Given the description of an element on the screen output the (x, y) to click on. 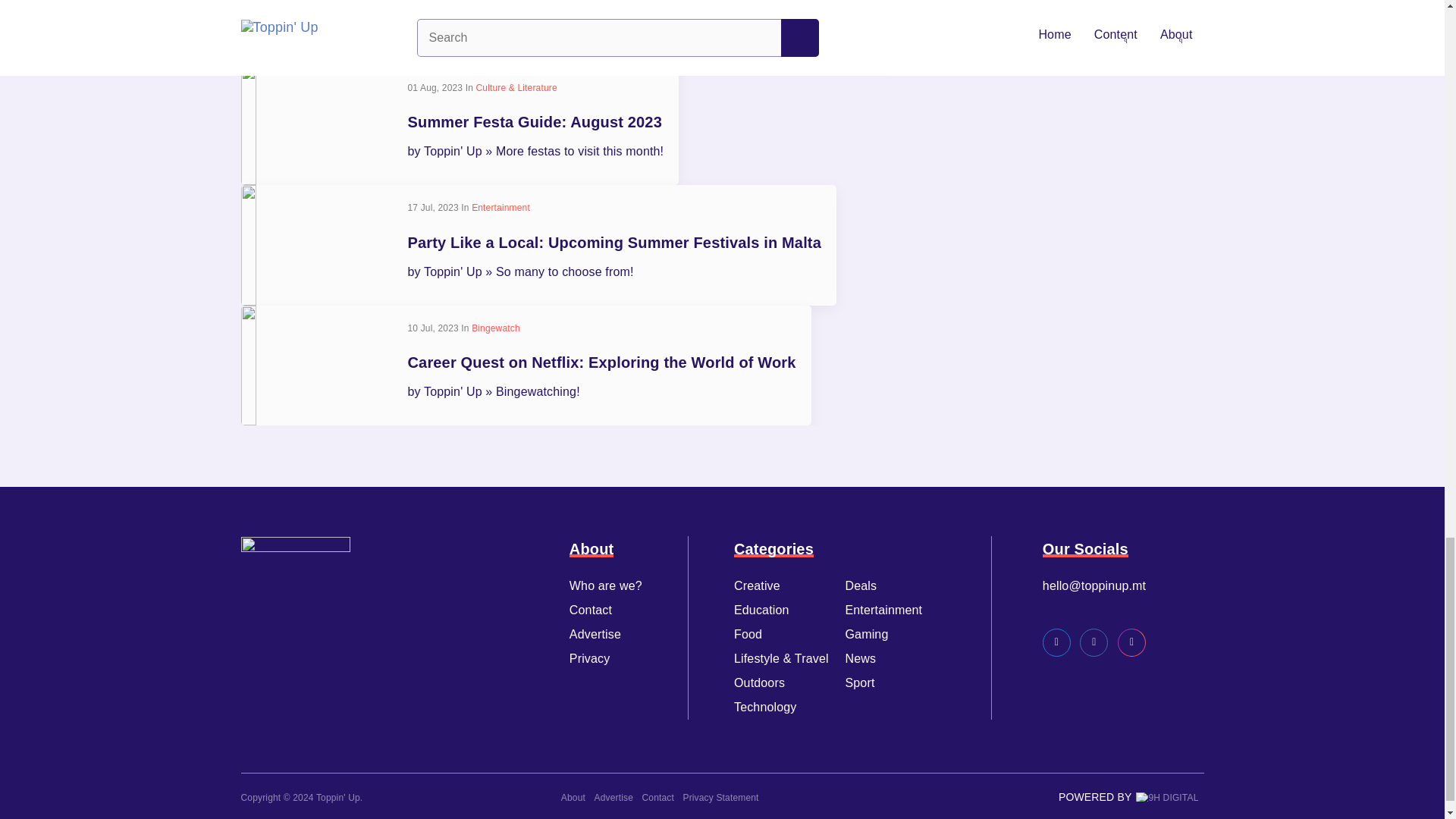
Bingewatch (495, 327)
Entertainment (500, 207)
